Given the description of an element on the screen output the (x, y) to click on. 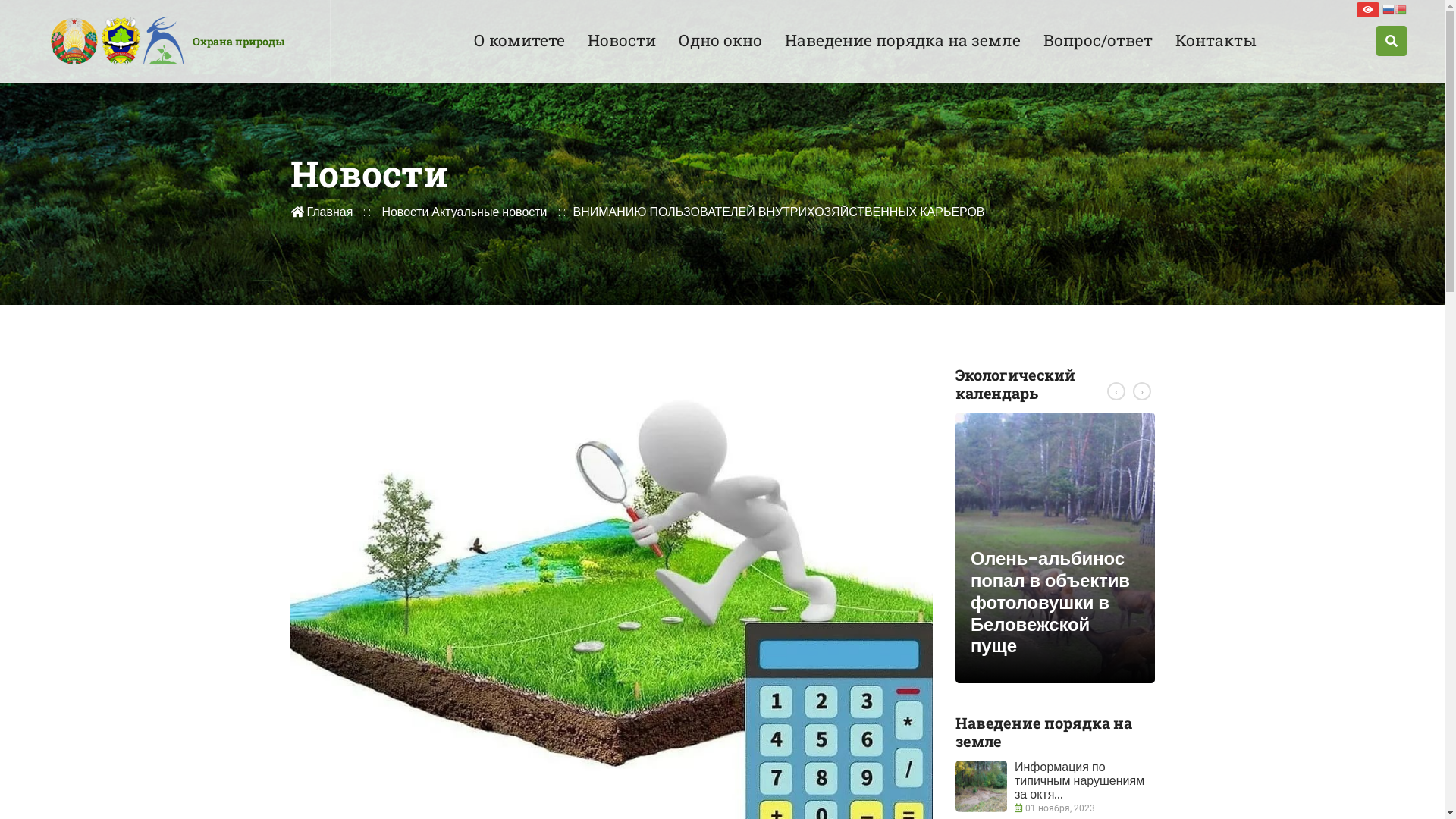
Belarusian Element type: hover (1400, 8)
Russian Element type: hover (1388, 8)
